Given the description of an element on the screen output the (x, y) to click on. 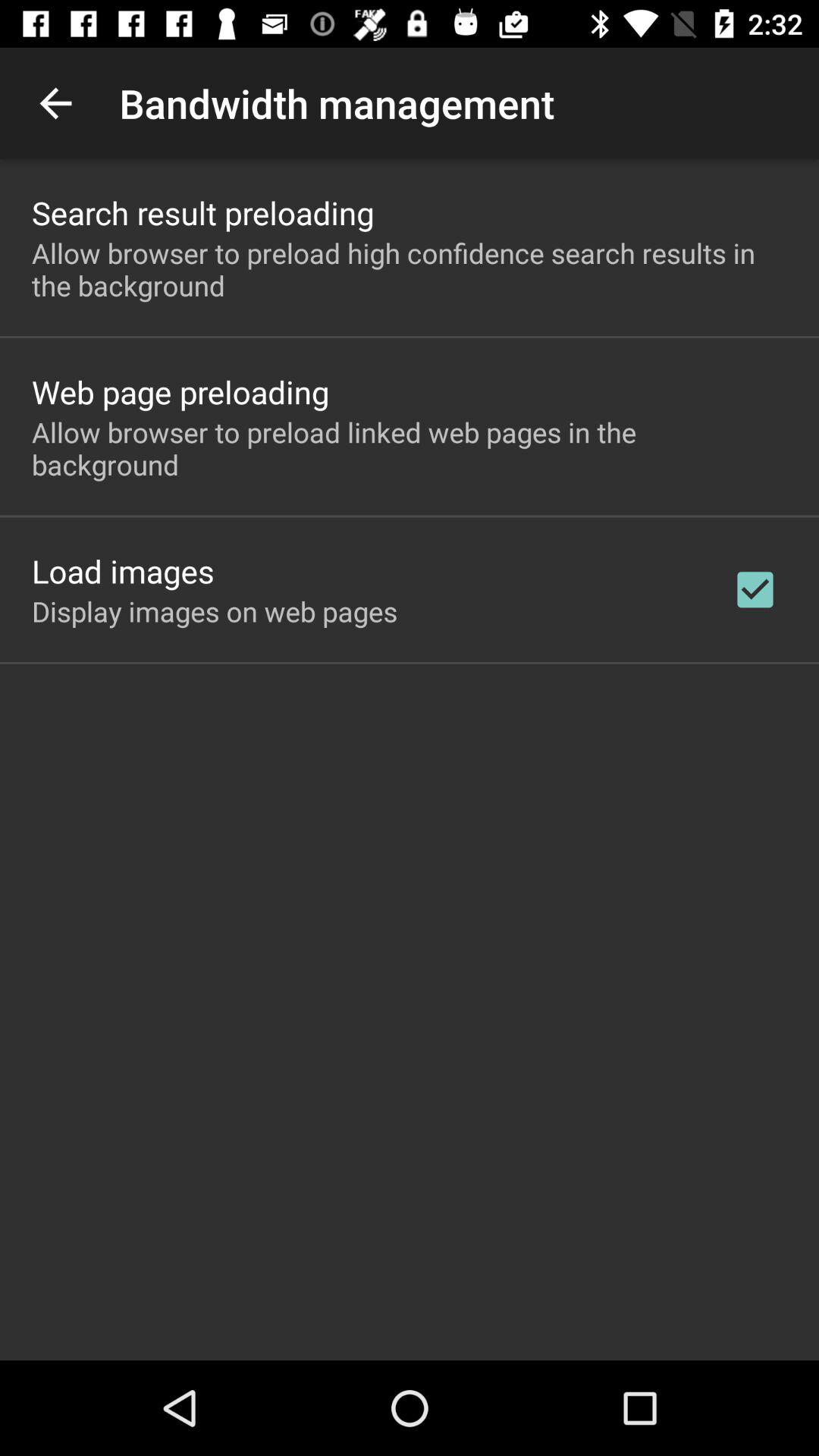
choose the load images (122, 570)
